Given the description of an element on the screen output the (x, y) to click on. 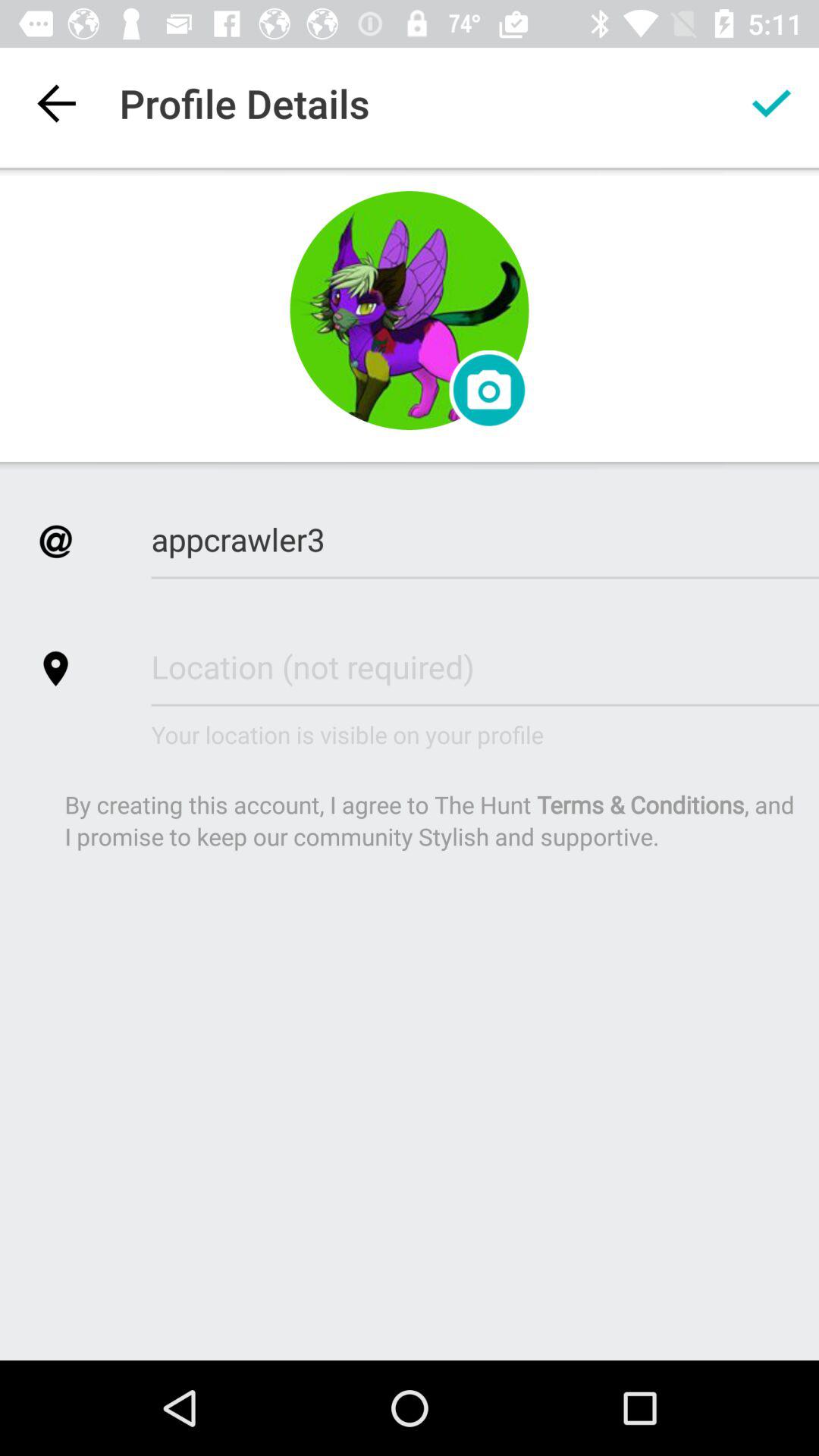
turn off the item at the top right corner (771, 103)
